Given the description of an element on the screen output the (x, y) to click on. 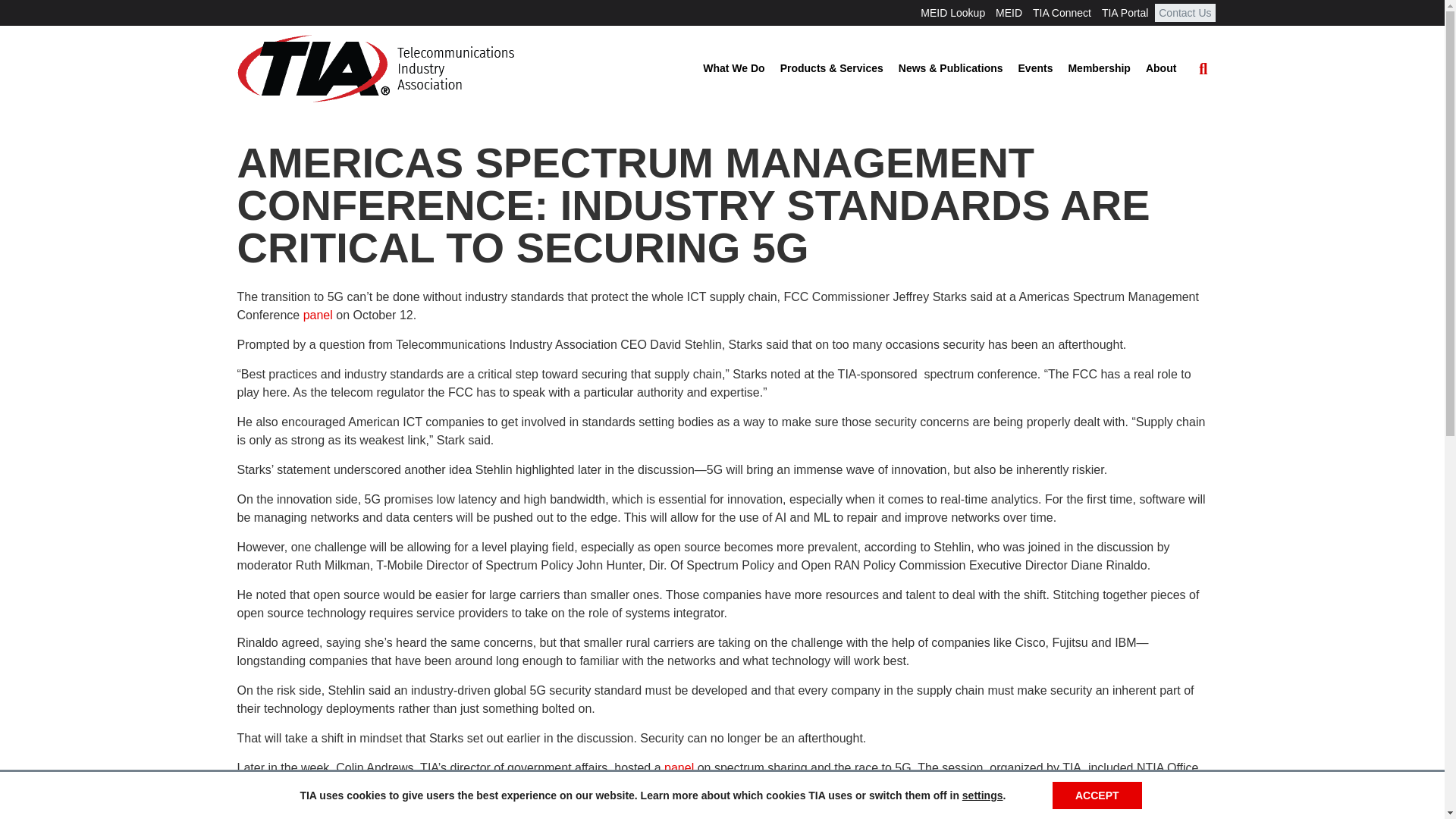
What We Do (733, 69)
Contact Us (1184, 13)
TIA Connect (1061, 13)
TIA Portal (1124, 13)
MEID Lookup (952, 13)
MEID (1008, 13)
